Given the description of an element on the screen output the (x, y) to click on. 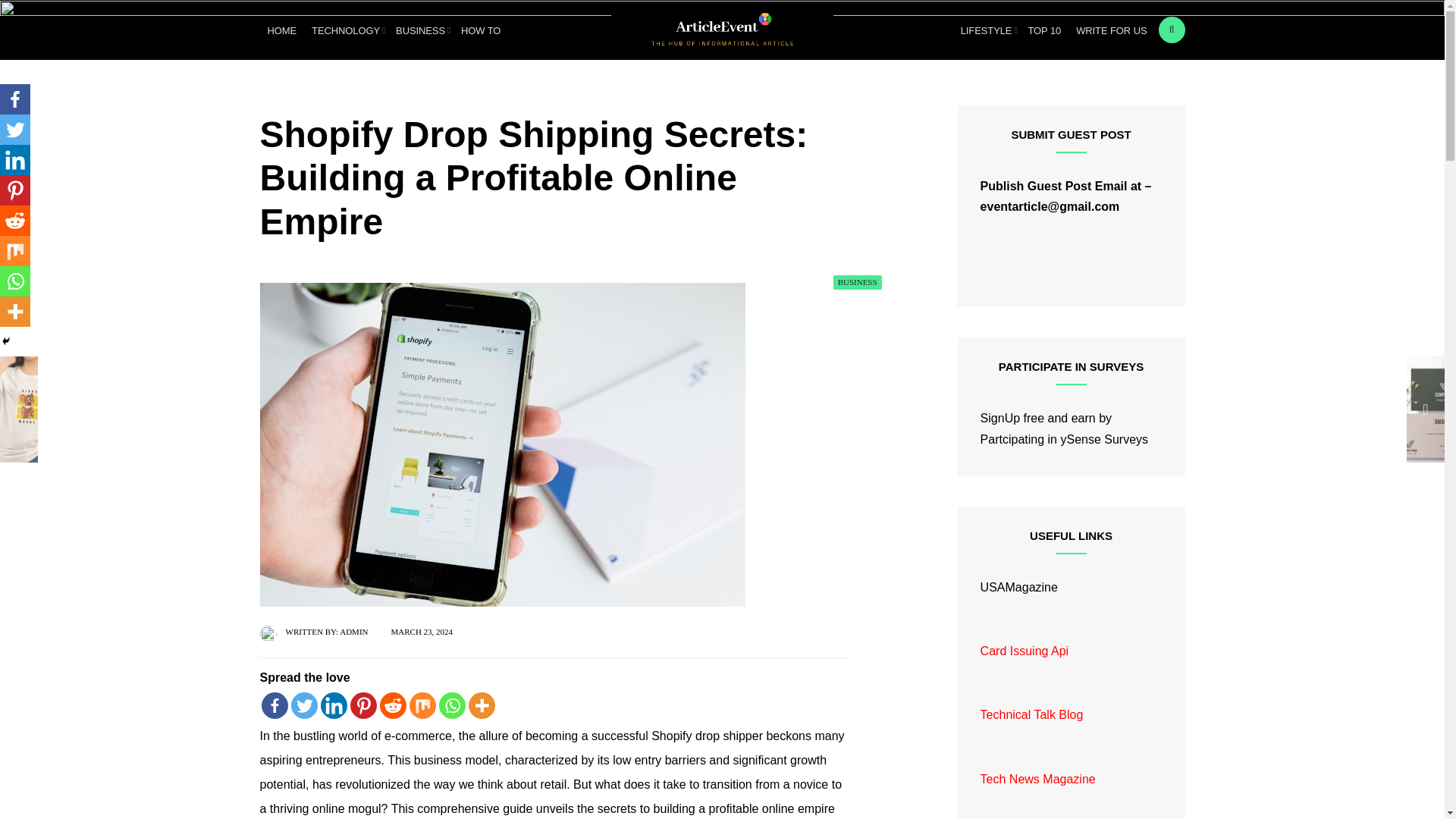
Reddit (15, 220)
HOME (281, 30)
More (481, 705)
Facebook (273, 705)
Pinterest (363, 705)
TOP 10 (1044, 30)
HOW TO (480, 30)
WRITE FOR US (1111, 30)
Pinterest (15, 190)
Posts by admin (353, 631)
